Given the description of an element on the screen output the (x, y) to click on. 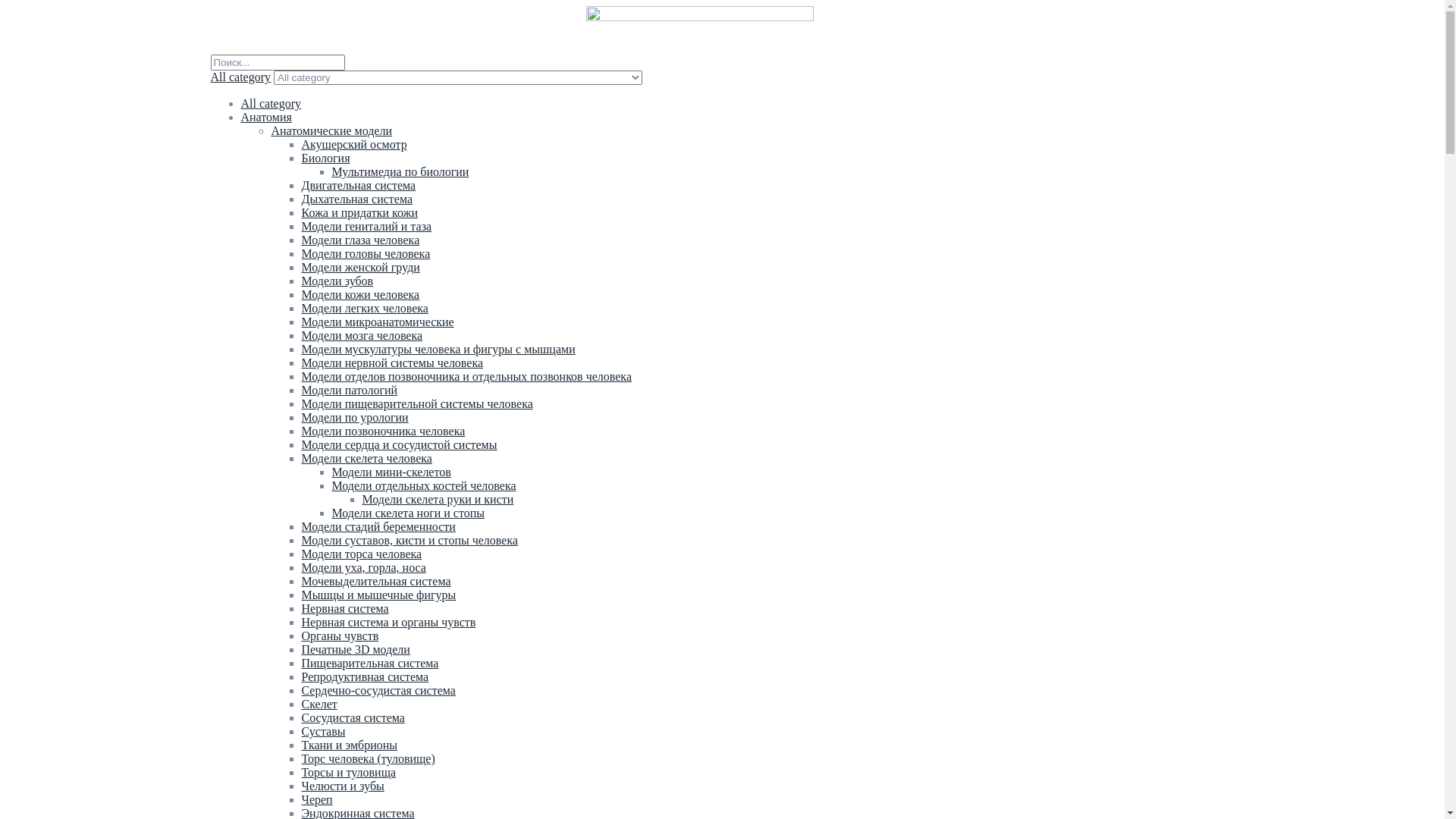
All category Element type: text (271, 103)
Search Element type: hover (277, 62)
All category Element type: text (240, 76)
